Given the description of an element on the screen output the (x, y) to click on. 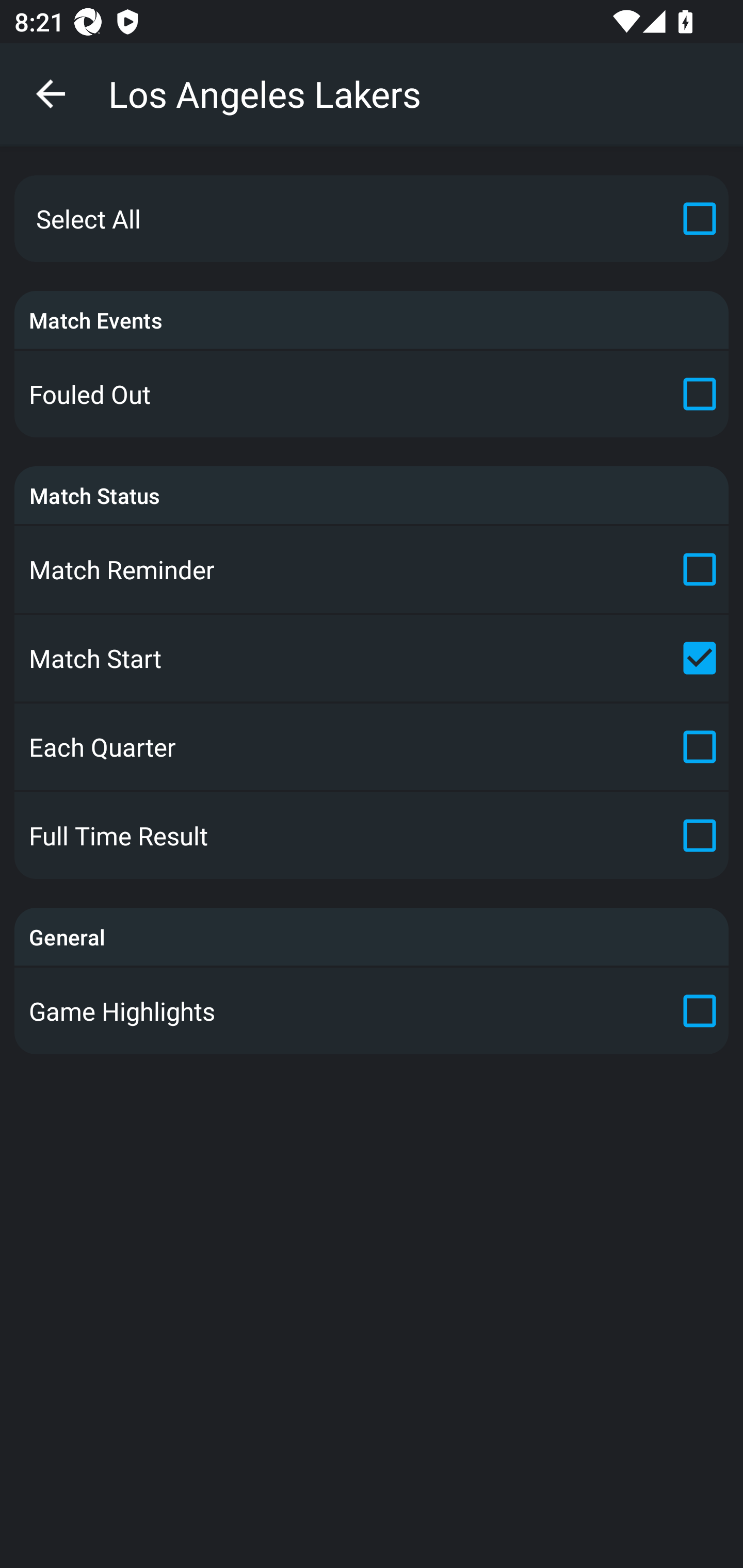
Navigate up (50, 93)
Fouled Out (371, 394)
Match Reminder (371, 569)
Match Start (371, 657)
Each Quarter (371, 747)
Full Time Result (371, 835)
Game Highlights (371, 1010)
